Given the description of an element on the screen output the (x, y) to click on. 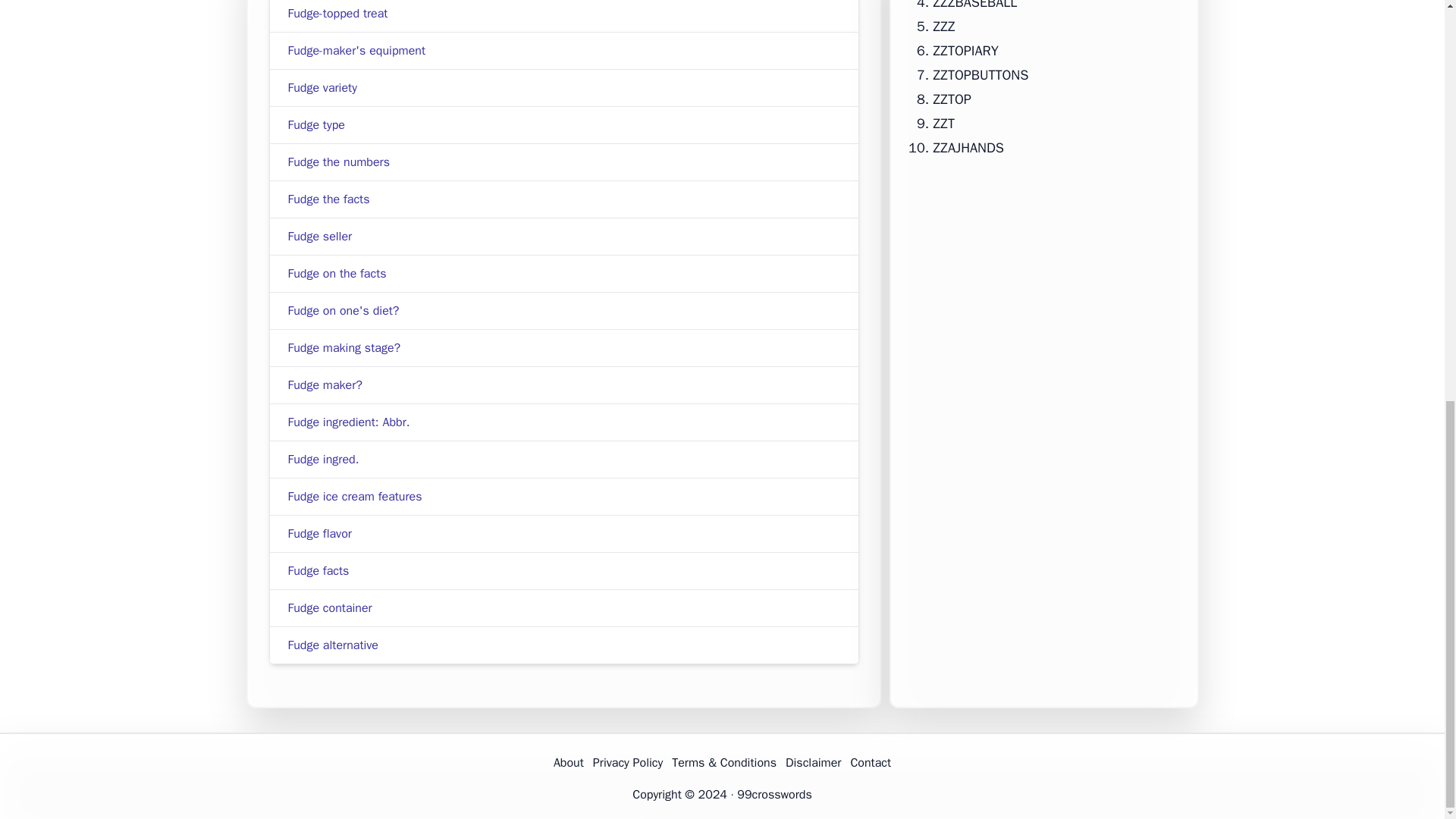
Fudge ice cream features (355, 496)
Fudge type (316, 124)
Fudge alternative (333, 645)
Fudge variety (322, 87)
Fudge ingredient: Abbr. (349, 421)
Fudge the facts (328, 199)
Fudge-topped treat (338, 13)
Fudge maker? (325, 385)
Fudge flavor (320, 533)
Fudge seller (320, 236)
Fudge making stage? (344, 347)
Fudge the numbers (339, 161)
Fudge facts (318, 570)
Fudge container (330, 607)
Fudge-maker's equipment (357, 50)
